Given the description of an element on the screen output the (x, y) to click on. 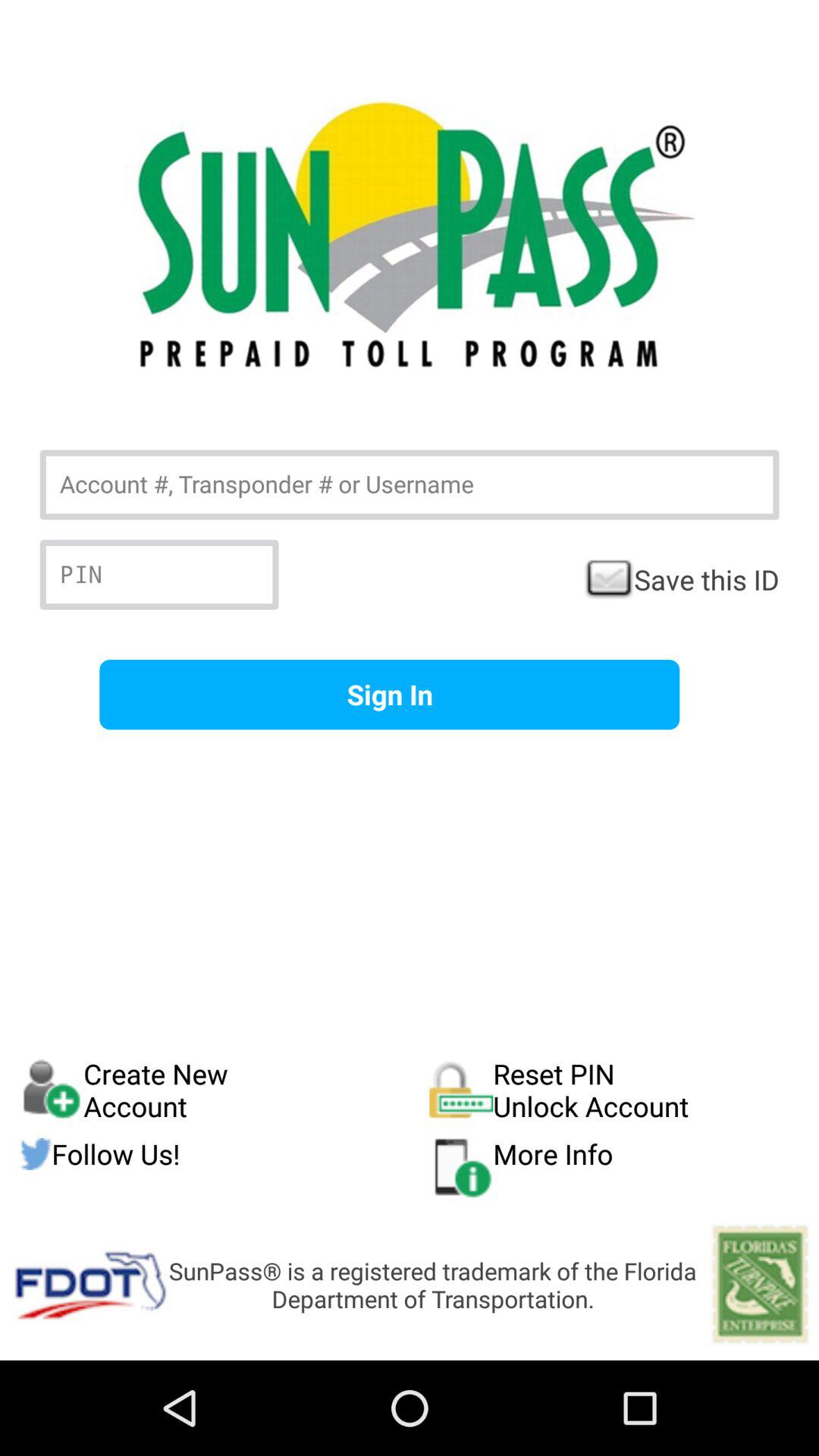
scroll until sign in item (389, 694)
